Given the description of an element on the screen output the (x, y) to click on. 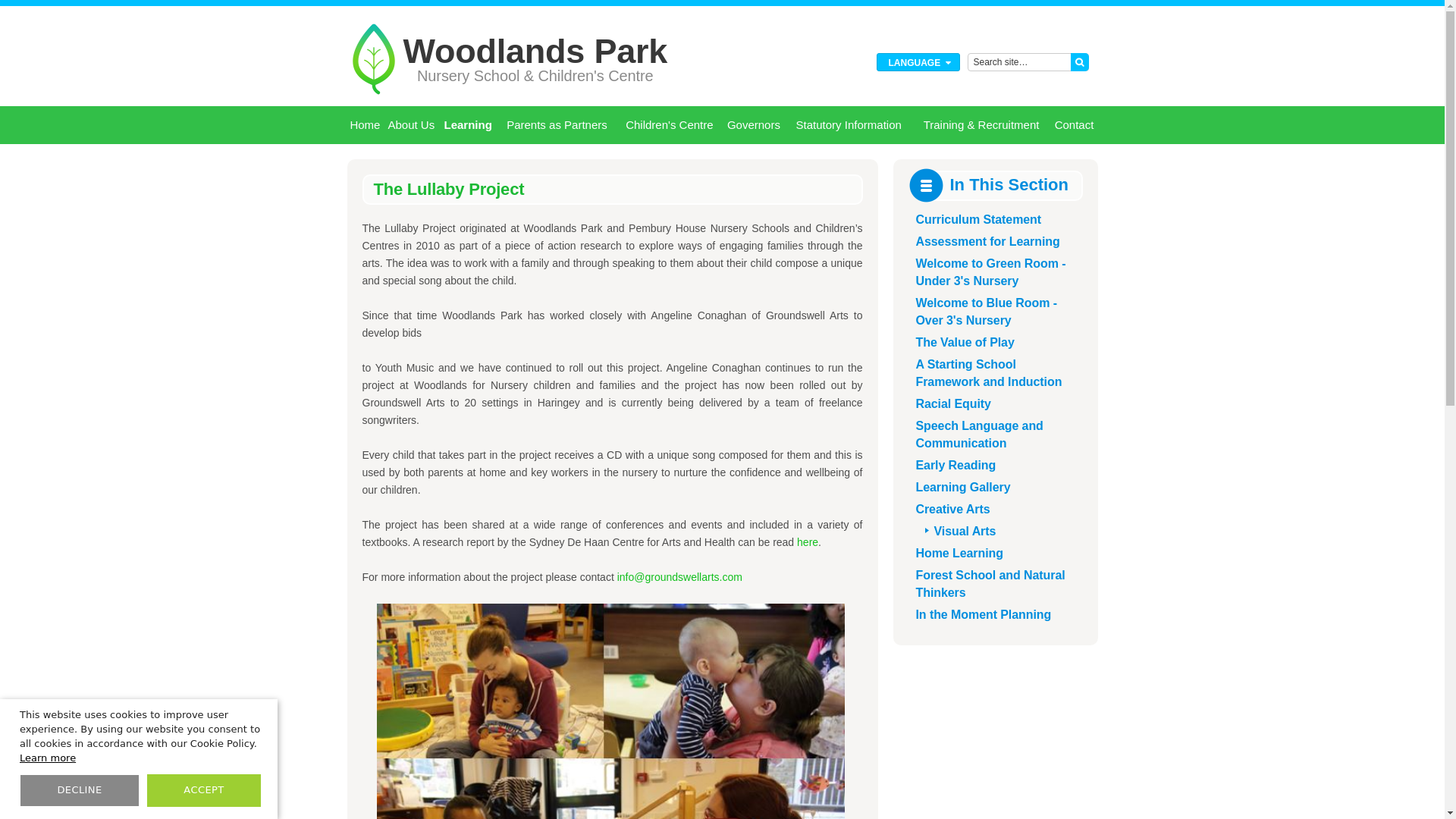
About Us (410, 125)
Home (365, 125)
Learning (467, 125)
